Given the description of an element on the screen output the (x, y) to click on. 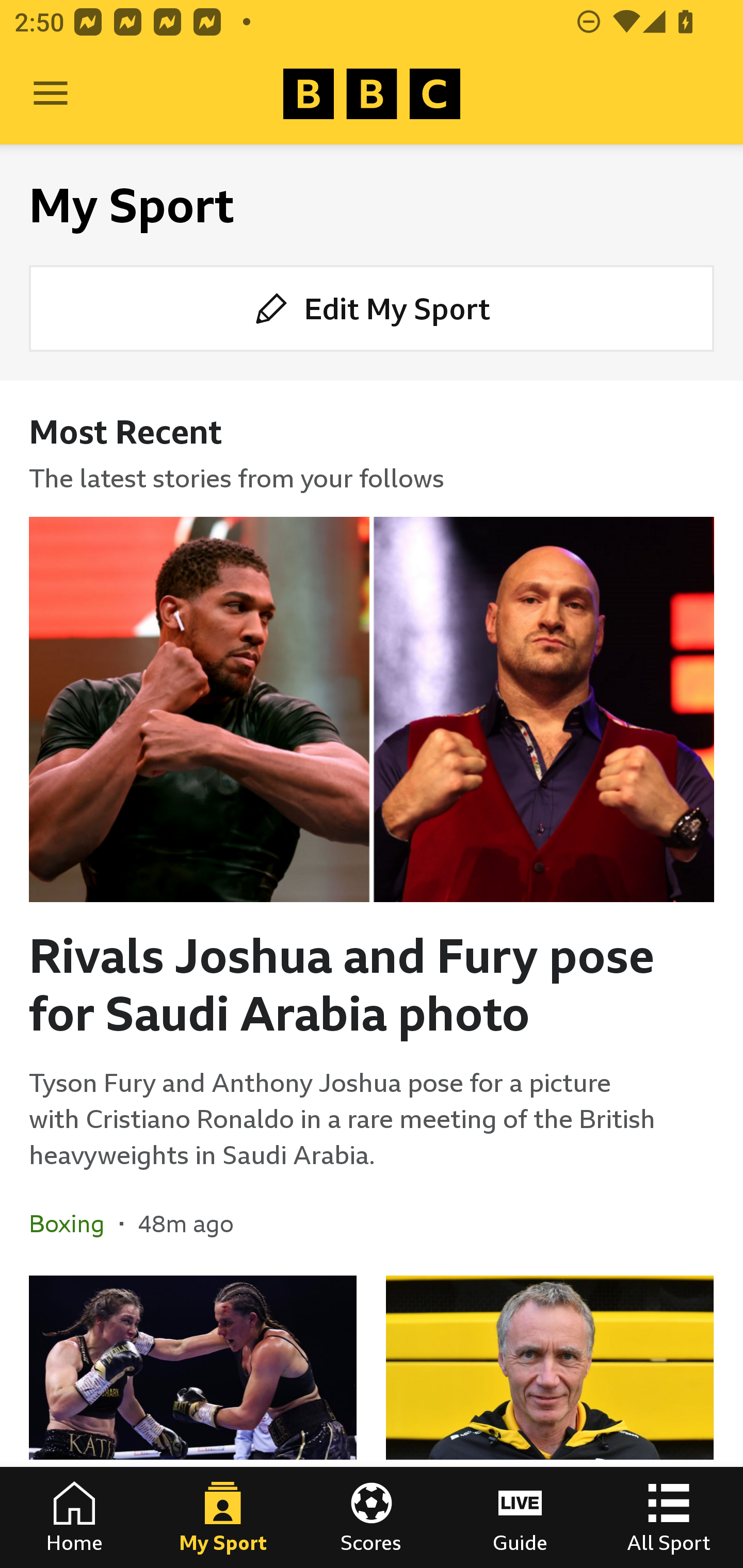
Open Menu (50, 93)
Edit My Sport (371, 307)
Taylor-Cameron trilogy will happen in 2024 - Hearn (192, 1421)
Engineer Bell leaves struggling Alpine (549, 1421)
Home (74, 1517)
Scores (371, 1517)
Guide (519, 1517)
All Sport (668, 1517)
